Given the description of an element on the screen output the (x, y) to click on. 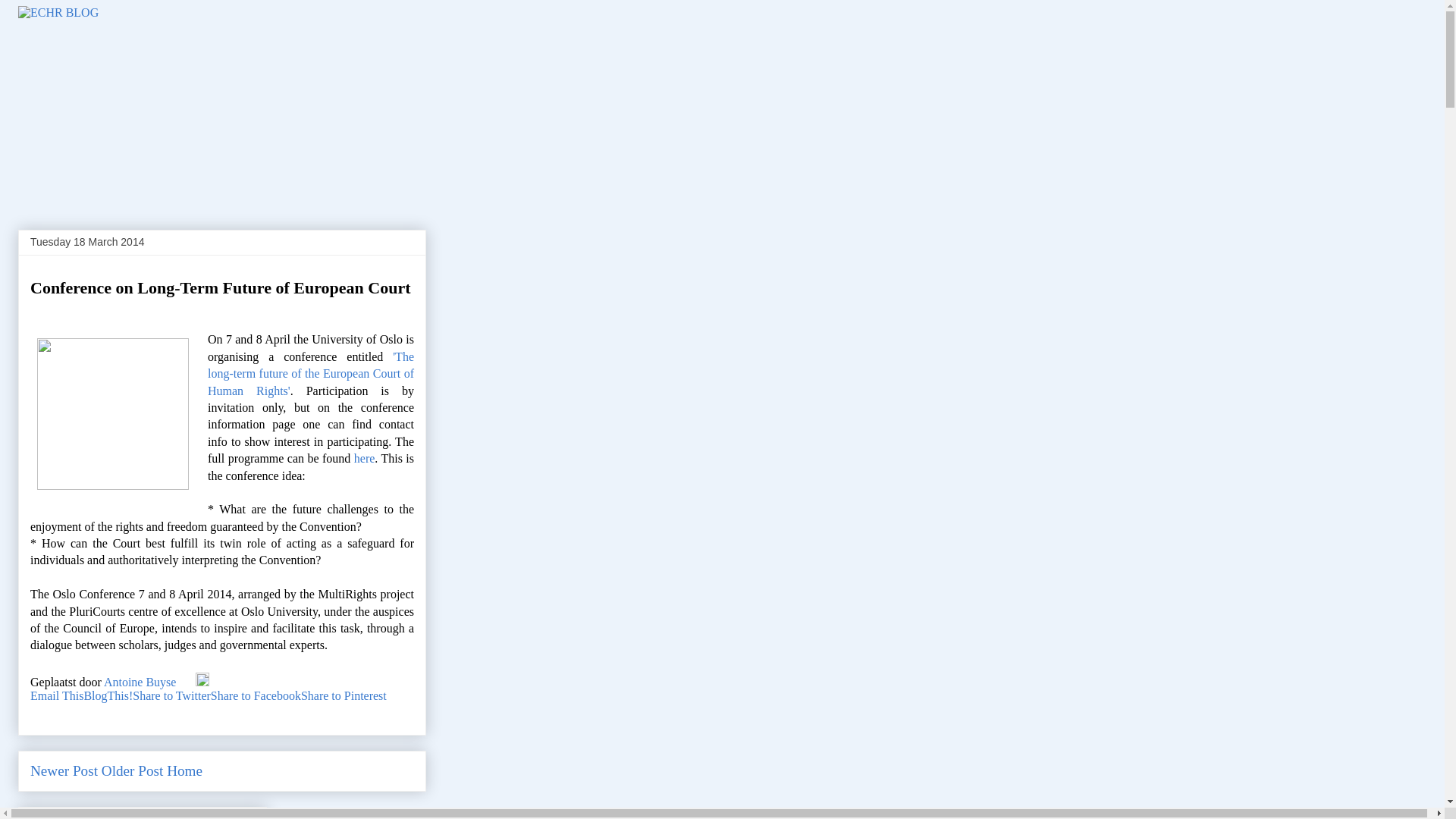
Antoine Buyse (141, 681)
Share to Twitter (171, 695)
Email Post (187, 681)
here (364, 458)
Home (184, 770)
Edit Post (202, 681)
Share to Facebook (256, 695)
Share to Facebook (256, 695)
Older Post (132, 770)
Email This (56, 695)
Share to Twitter (171, 695)
'The long-term future of the European Court of Human Rights' (310, 373)
Share to Pinterest (344, 695)
Email This (56, 695)
BlogThis! (107, 695)
